Given the description of an element on the screen output the (x, y) to click on. 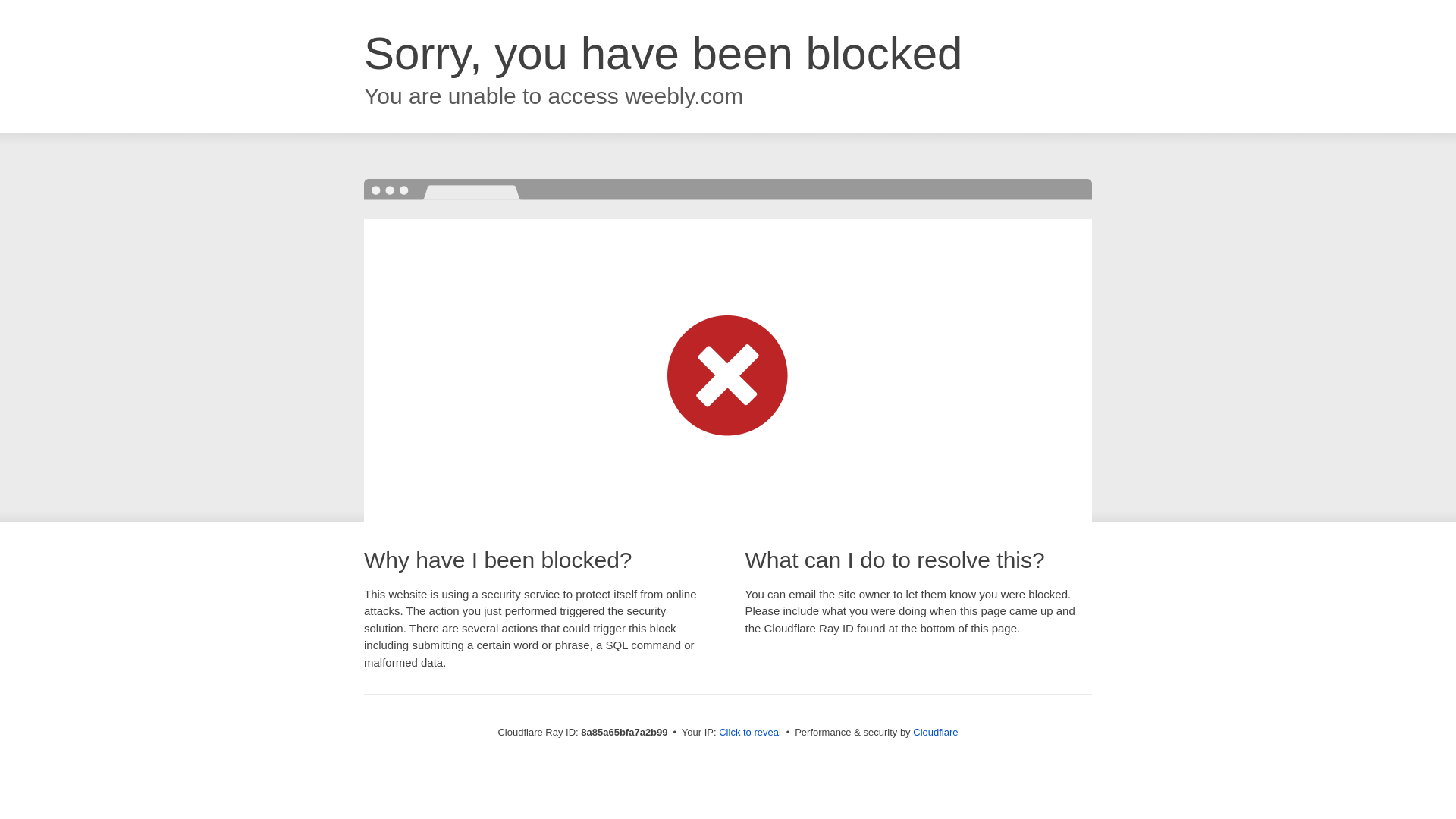
Cloudflare (935, 731)
Click to reveal (749, 732)
